Given the description of an element on the screen output the (x, y) to click on. 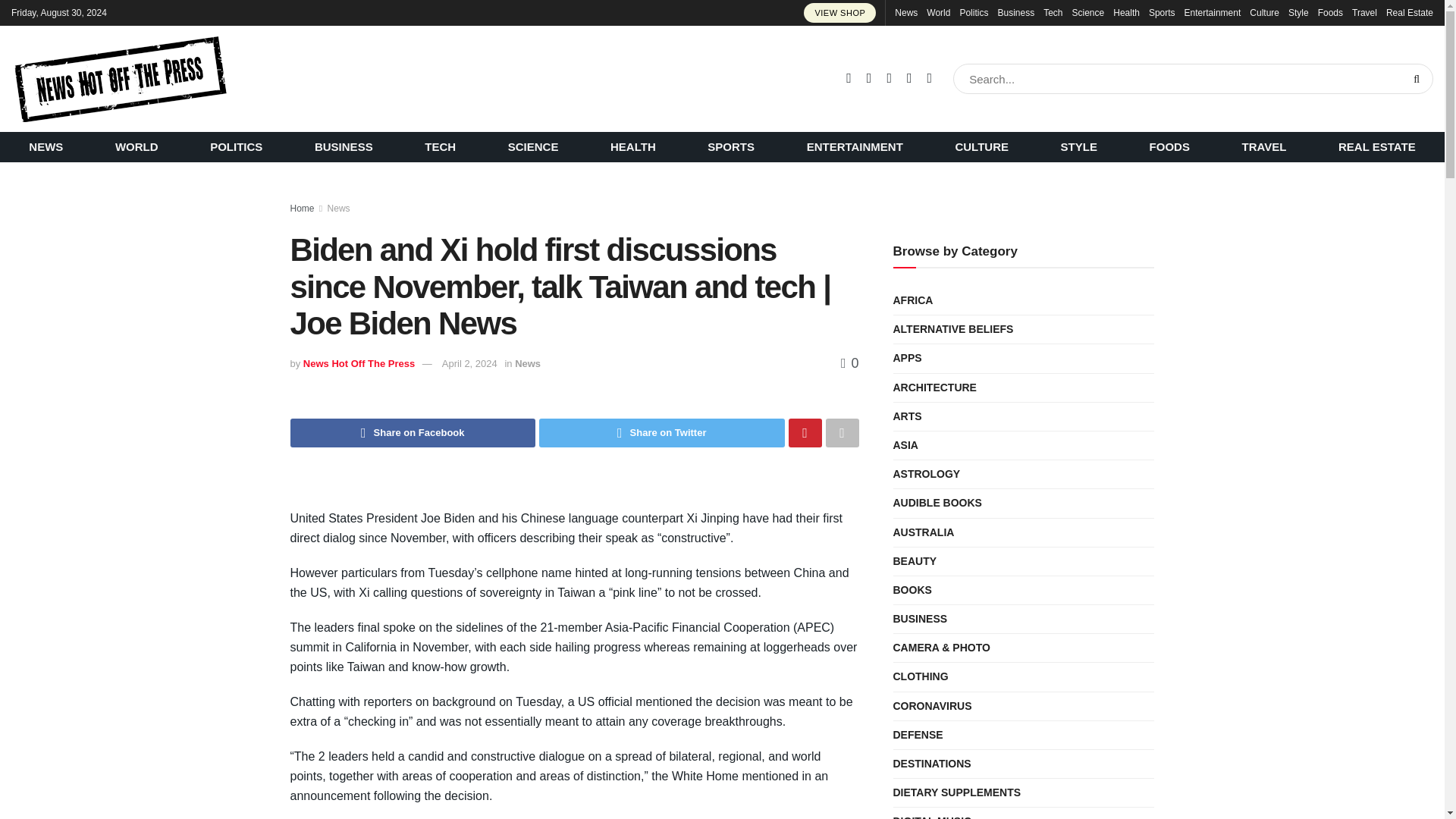
Science (1088, 12)
Real Estate (1409, 12)
Politics (973, 12)
VIEW SHOP (839, 12)
Travel (1364, 12)
World (938, 12)
Entertainment (1213, 12)
Foods (1329, 12)
Sports (1161, 12)
Business (1015, 12)
